Given the description of an element on the screen output the (x, y) to click on. 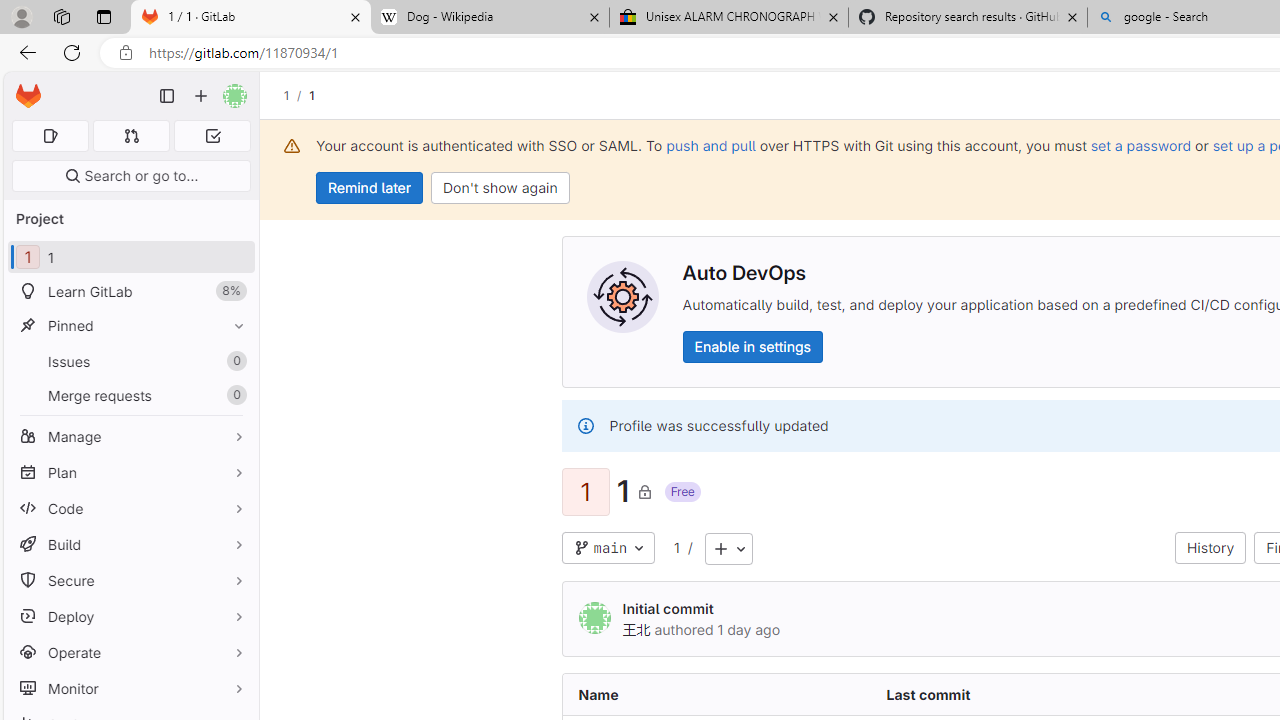
1 1 (130, 257)
Don't show again (500, 187)
Monitor (130, 687)
1 (676, 547)
Name (715, 694)
Plan (130, 471)
Learn GitLab 8% (130, 291)
push and pull (710, 145)
